Given the description of an element on the screen output the (x, y) to click on. 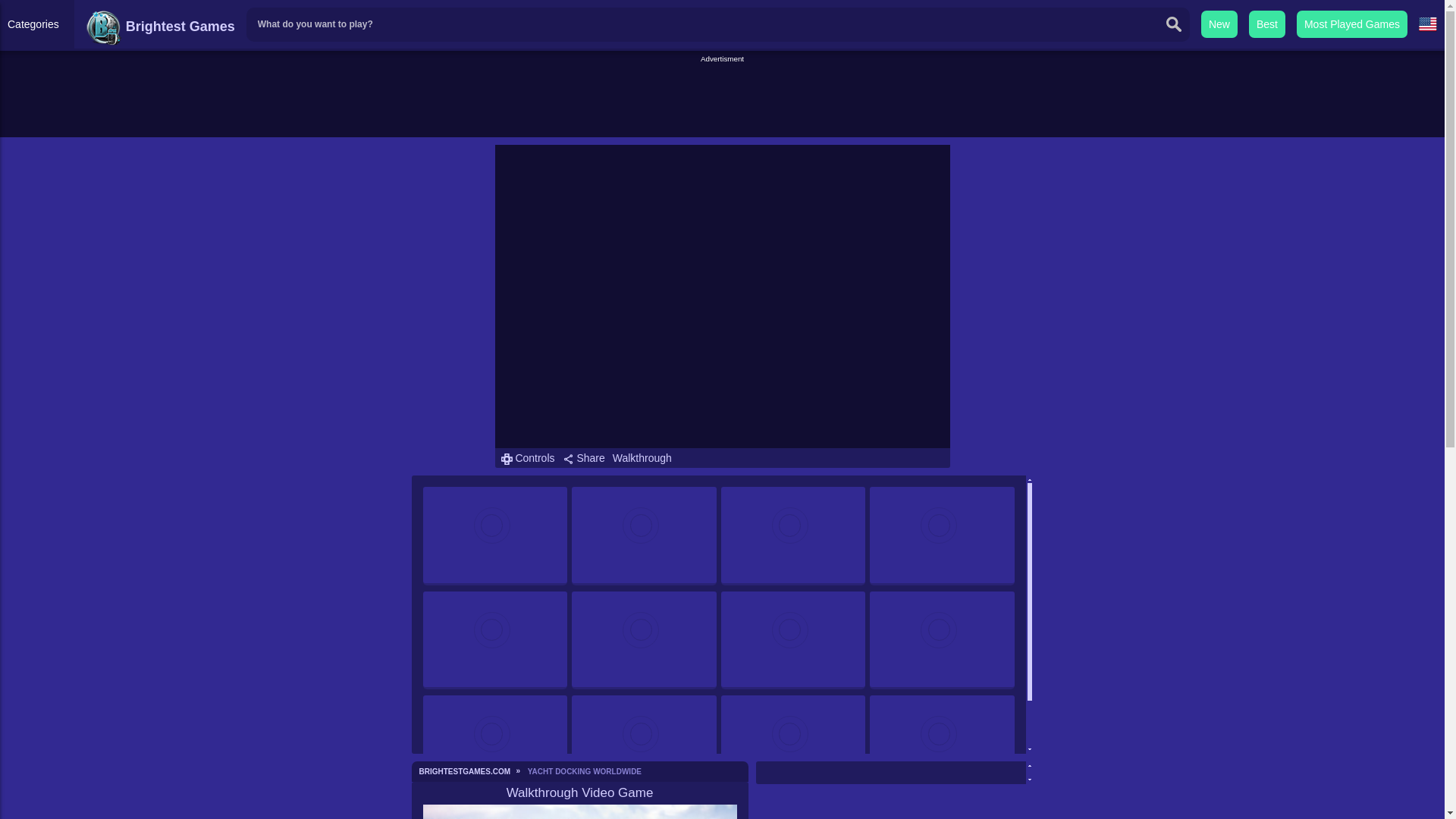
Brightest Games (159, 26)
English (1427, 24)
Most Played Games (1352, 23)
Best (1267, 23)
New (1219, 23)
Play Free Online Games (159, 26)
New (1219, 23)
Best (1267, 23)
Most Played Games (1352, 23)
